Given the description of an element on the screen output the (x, y) to click on. 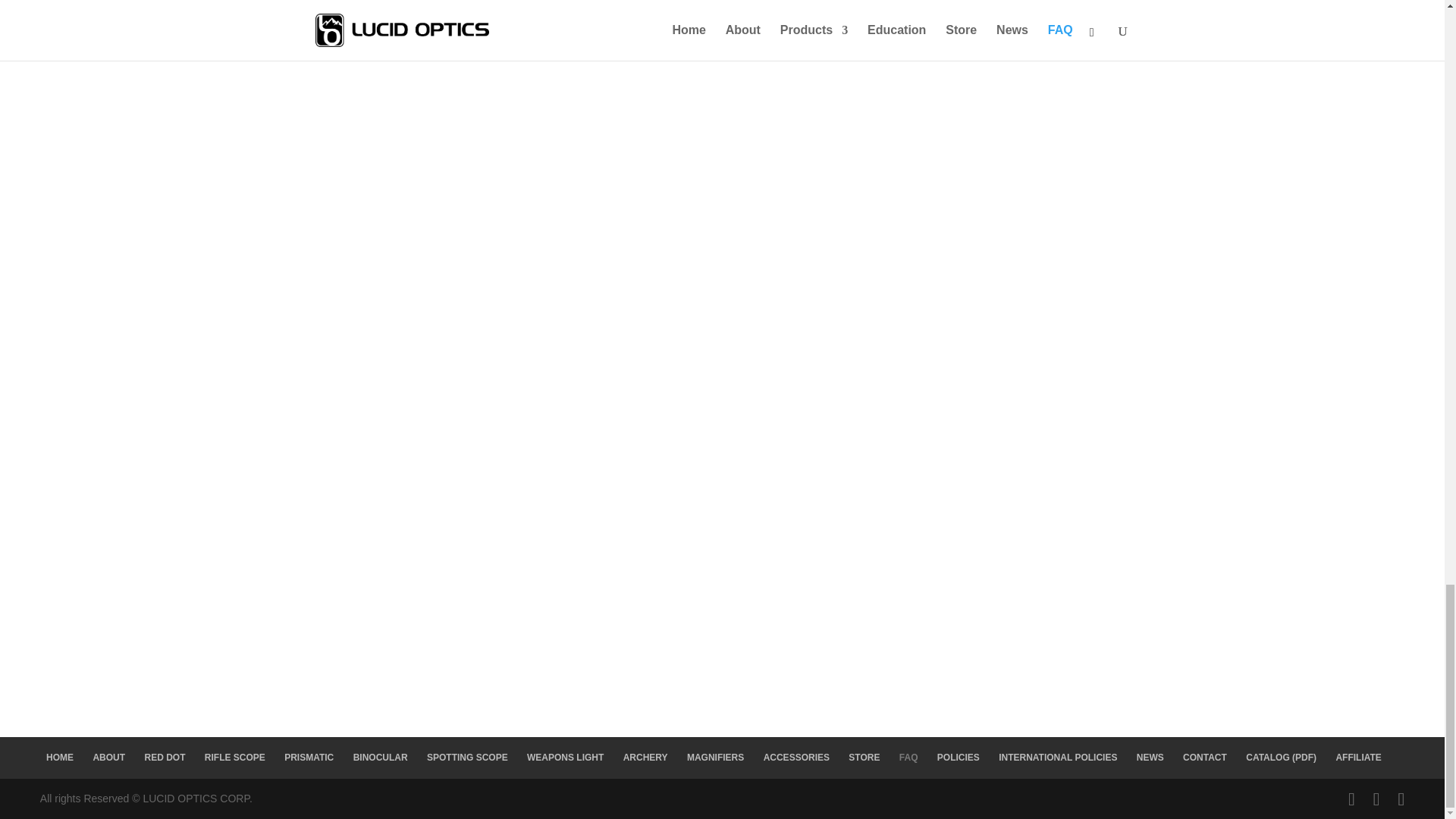
RED DOT (164, 757)
BINOCULAR (722, 107)
ABOUT (109, 757)
SPOTTING SCOPE (722, 206)
HOME (60, 757)
WEAPONS LIGHT (722, 304)
ARCHERY (722, 403)
MAGNIFIER (721, 600)
ACCESSORY (722, 501)
PRISMATIC (721, 13)
